Given the description of an element on the screen output the (x, y) to click on. 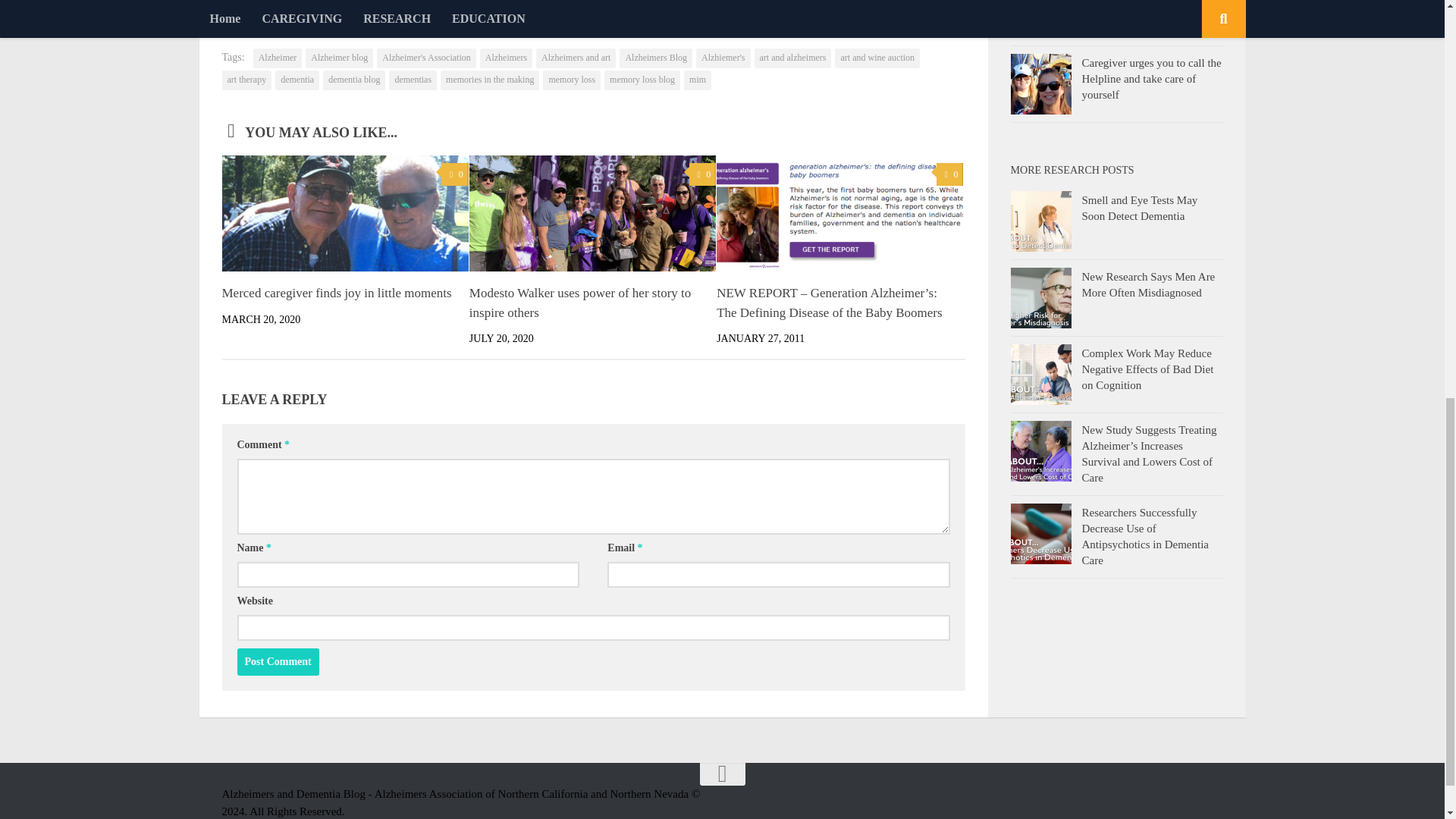
Post Comment (276, 661)
art therapy (245, 80)
Alzheimers (506, 57)
Alzheimer blog (338, 57)
art and wine auction (877, 57)
Alzheimer's Association (426, 57)
Alzhiemer's (722, 57)
Alzheimers and art (575, 57)
Alzheimer (277, 57)
Alzheimers Blog (656, 57)
art and alzheimers (792, 57)
